Given the description of an element on the screen output the (x, y) to click on. 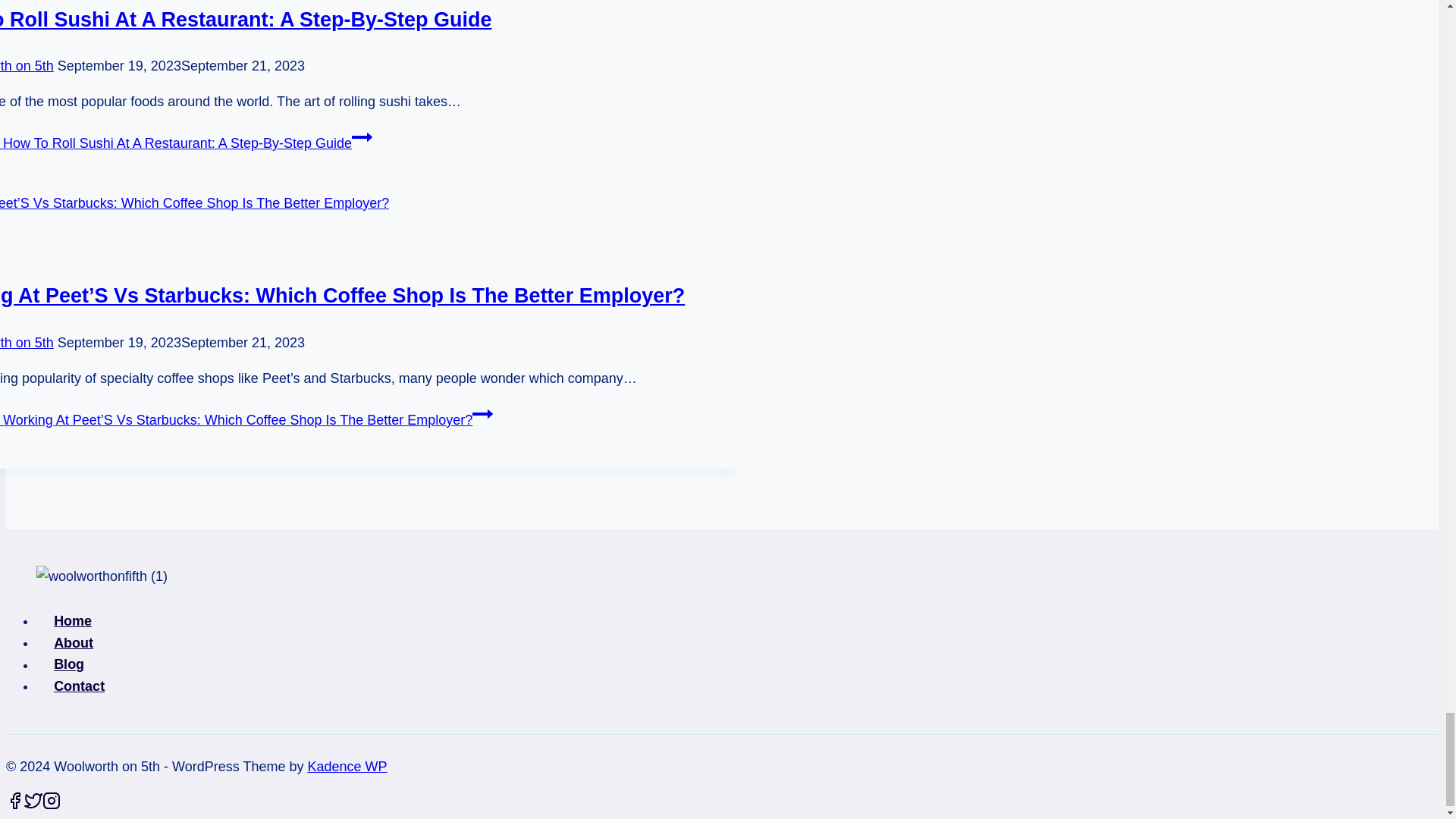
Continue (362, 137)
Continue (482, 413)
How To Roll Sushi At A Restaurant: A Step-By-Step Guide (246, 19)
Woolworth on 5th (26, 65)
Facebook (14, 800)
Instagram (51, 800)
Woolworth on 5th (26, 342)
Twitter (33, 800)
